Given the description of an element on the screen output the (x, y) to click on. 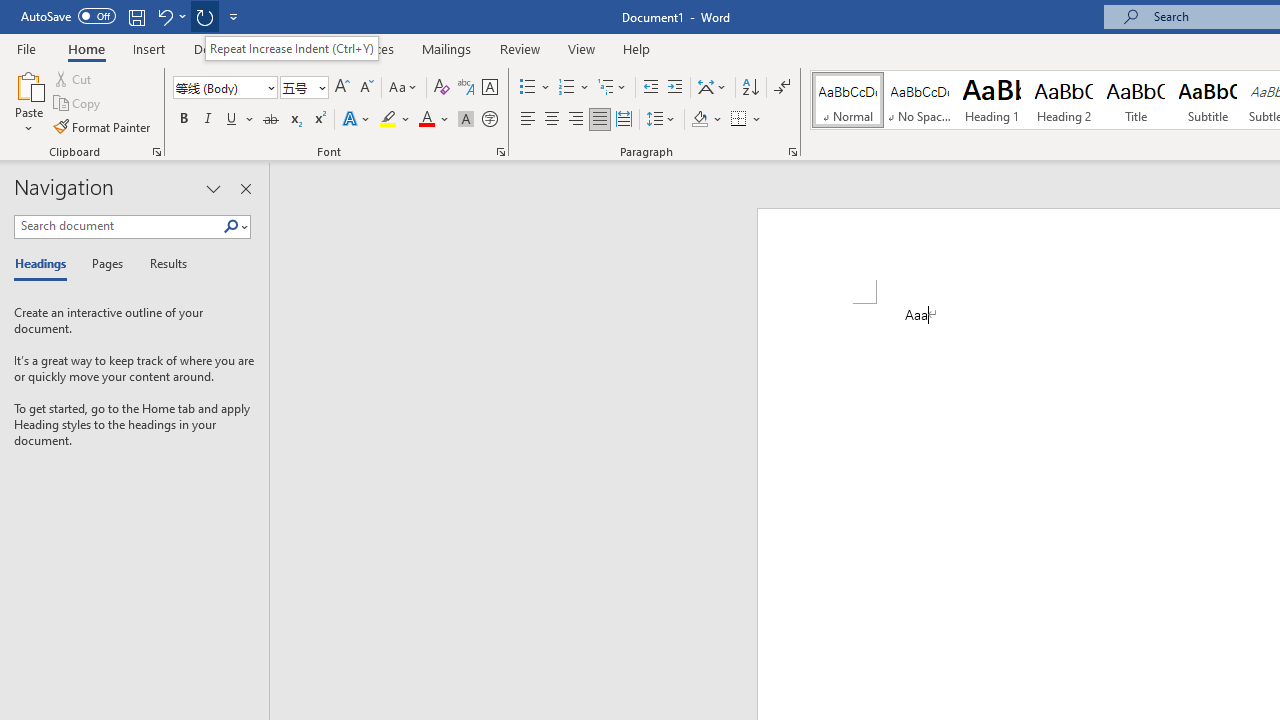
Font Color Red (426, 119)
